Given the description of an element on the screen output the (x, y) to click on. 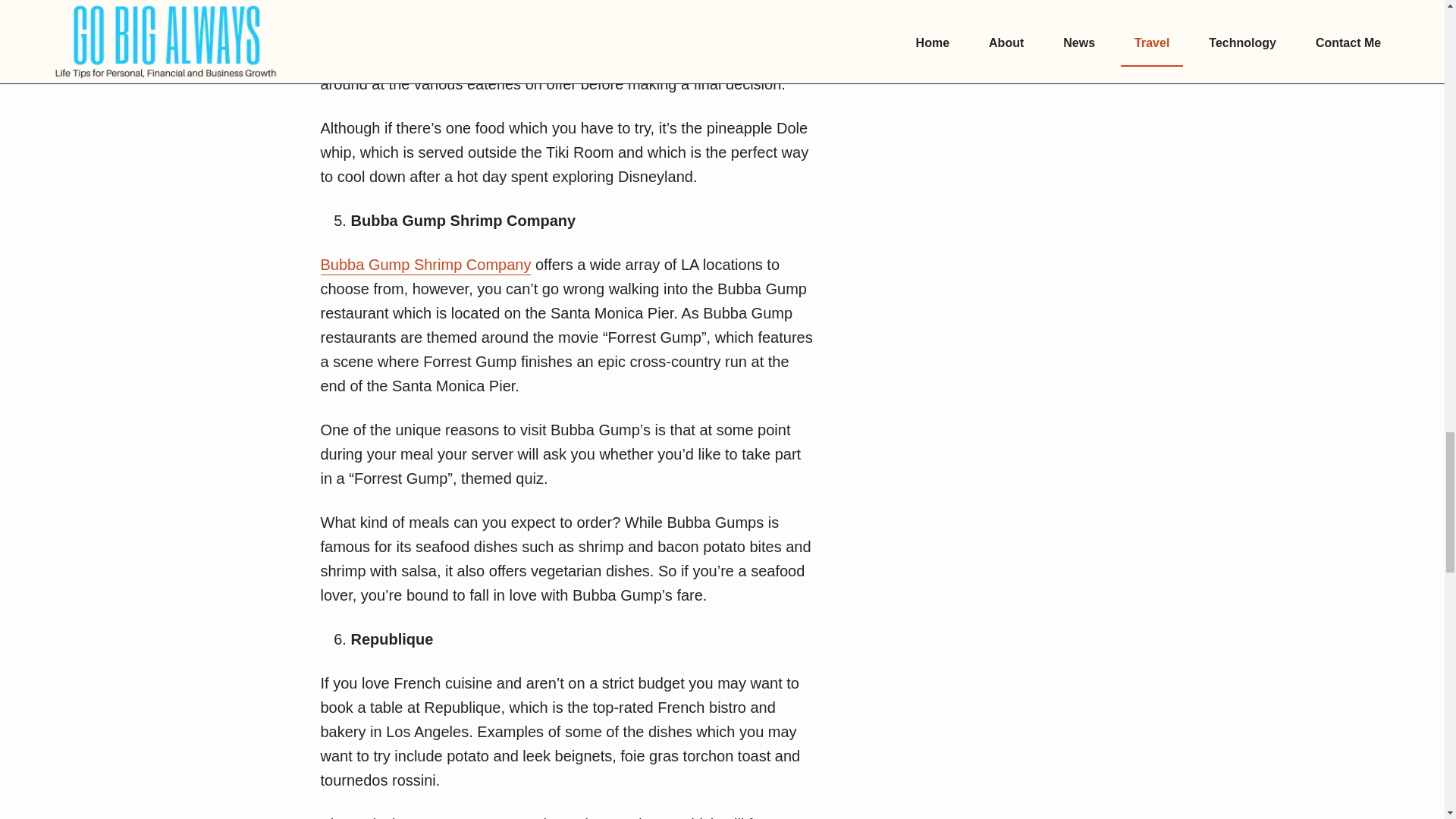
Bubba Gump Shrimp Company (425, 265)
